Given the description of an element on the screen output the (x, y) to click on. 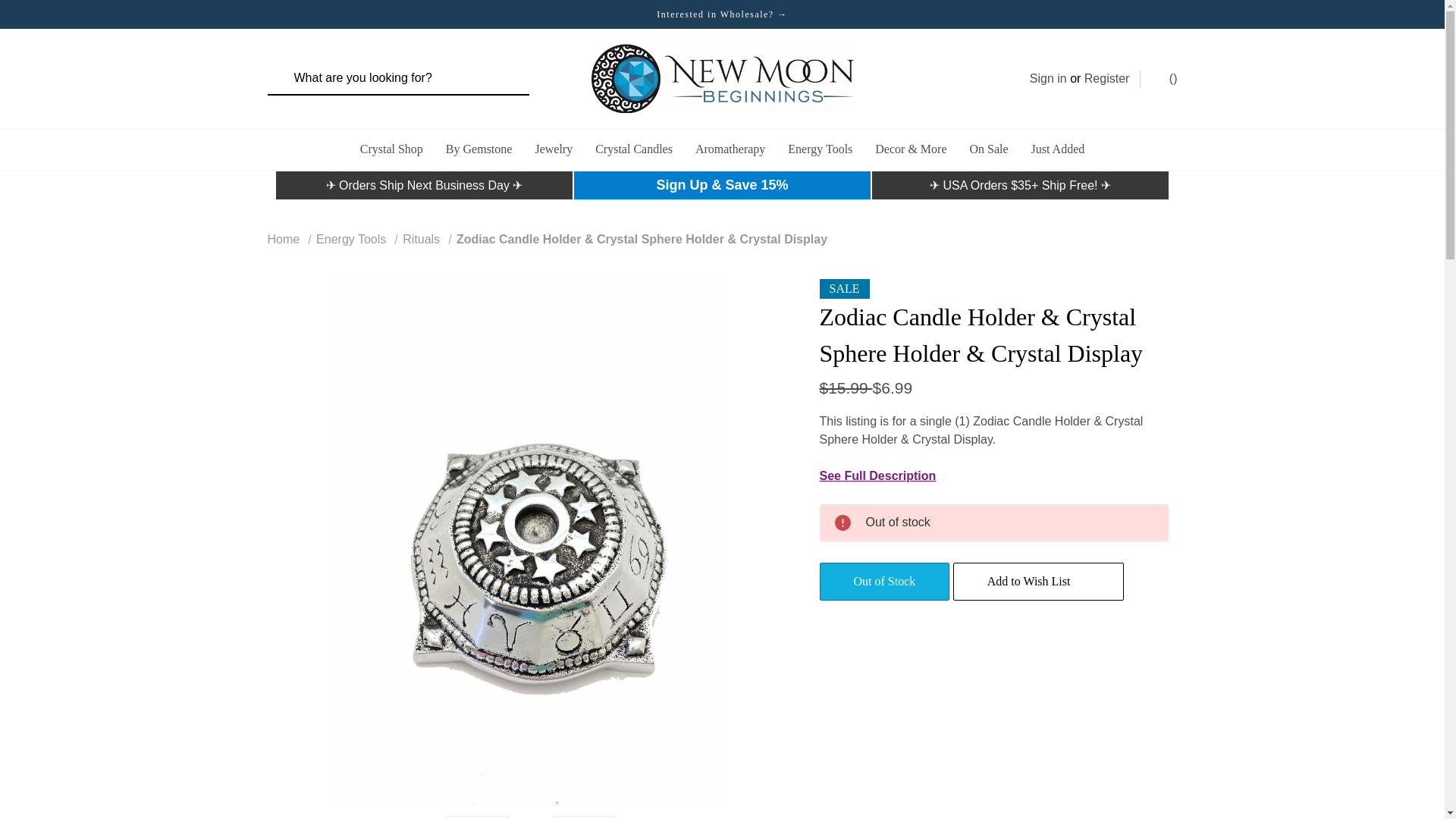
Crystal Shop (391, 148)
New Moon Beginnings (722, 78)
Sign in (1048, 78)
Register (1106, 78)
